Given the description of an element on the screen output the (x, y) to click on. 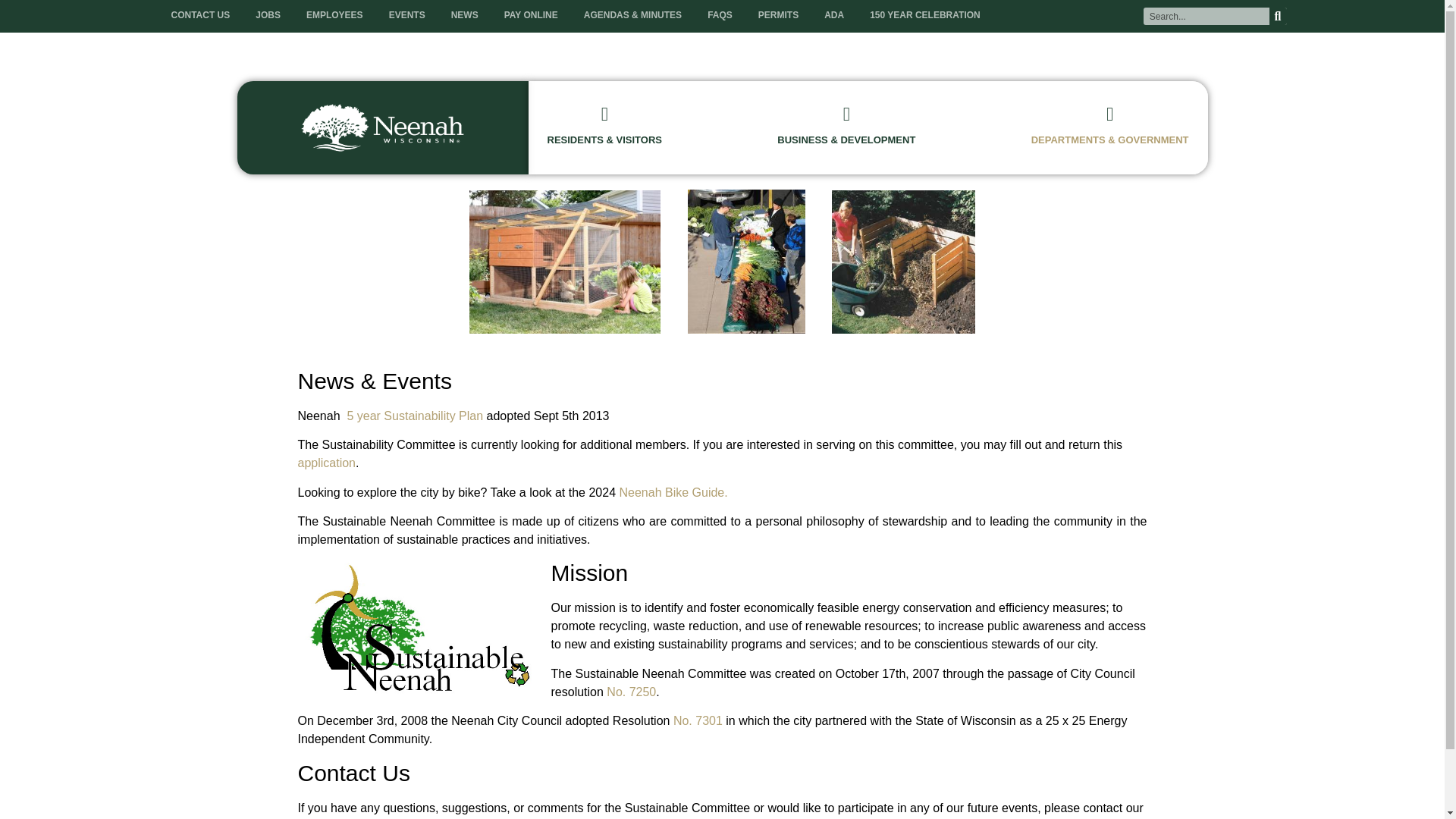
150 YEAR CELEBRATION (924, 14)
NEWS (465, 14)
EMPLOYEES (334, 14)
PERMITS (777, 14)
Search (1205, 16)
ADA (833, 14)
FAQS (719, 14)
JOBS (268, 14)
EVENTS (406, 14)
PAY ONLINE (531, 14)
